Given the description of an element on the screen output the (x, y) to click on. 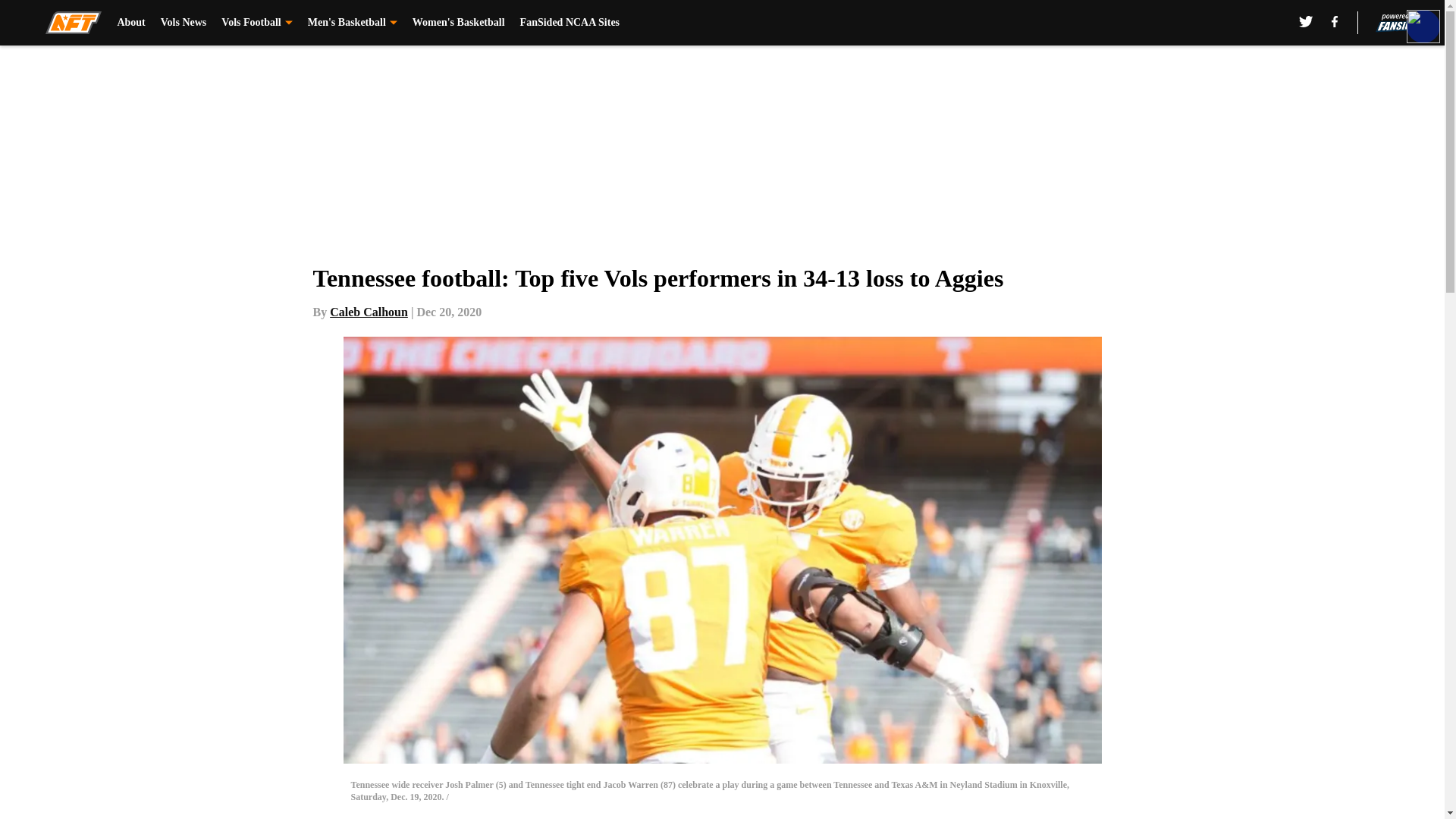
Women's Basketball (458, 22)
Vols News (183, 22)
Caleb Calhoun (368, 311)
Accessibility Menu (1422, 26)
About (130, 22)
FanSided NCAA Sites (569, 22)
